Given the description of an element on the screen output the (x, y) to click on. 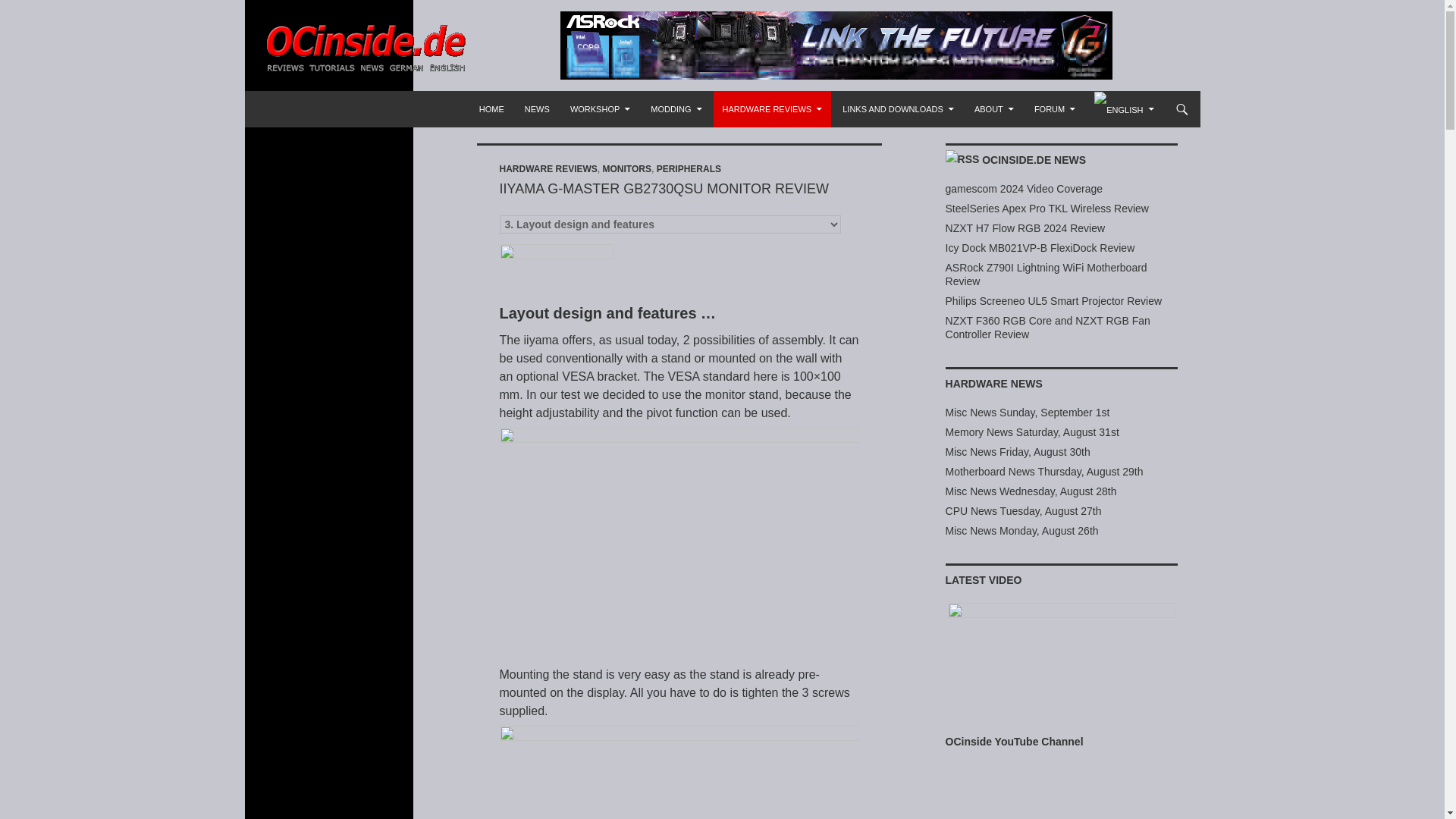
WORKSHOP (599, 108)
Redaktion ocinside.de PC Hardware Portal International (447, 108)
English (1118, 109)
HOME (491, 108)
Search (267, 99)
NEWS (537, 108)
MODDING (676, 108)
SKIP TO CONTENT (516, 97)
